Given the description of an element on the screen output the (x, y) to click on. 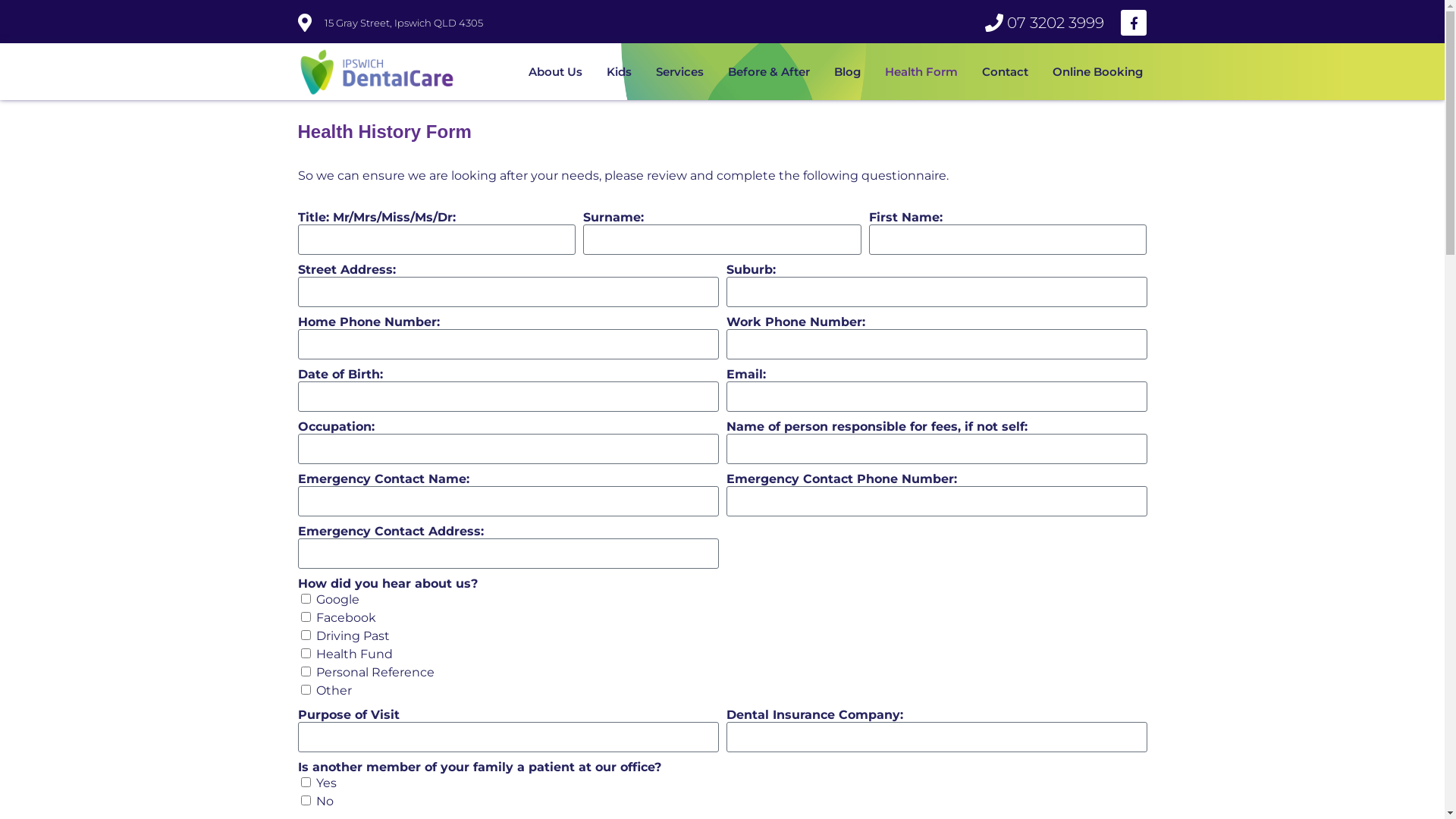
Online Booking Element type: text (1097, 71)
Before & After Element type: text (768, 71)
About Us Element type: text (554, 71)
Services Element type: text (679, 71)
07 3202 3999 Element type: text (985, 22)
Kids Element type: text (618, 71)
Contact Element type: text (1004, 71)
Blog Element type: text (847, 71)
Health Form Element type: text (920, 71)
